Given the description of an element on the screen output the (x, y) to click on. 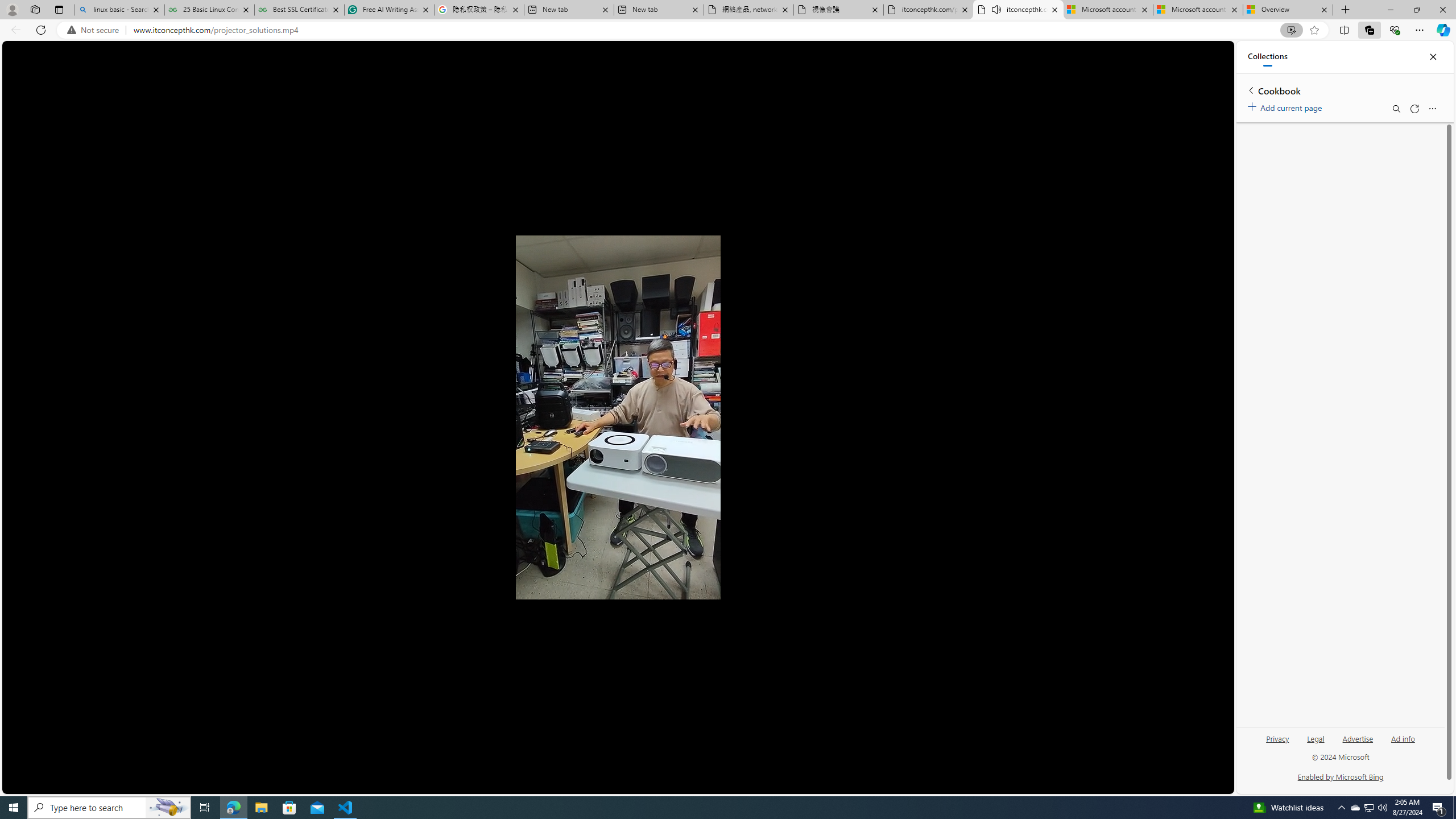
itconcepthk.com/projector_solutions.mp4 - Audio playing (1018, 9)
Free AI Writing Assistance for Students | Grammarly (389, 9)
Not secure (95, 29)
